Given the description of an element on the screen output the (x, y) to click on. 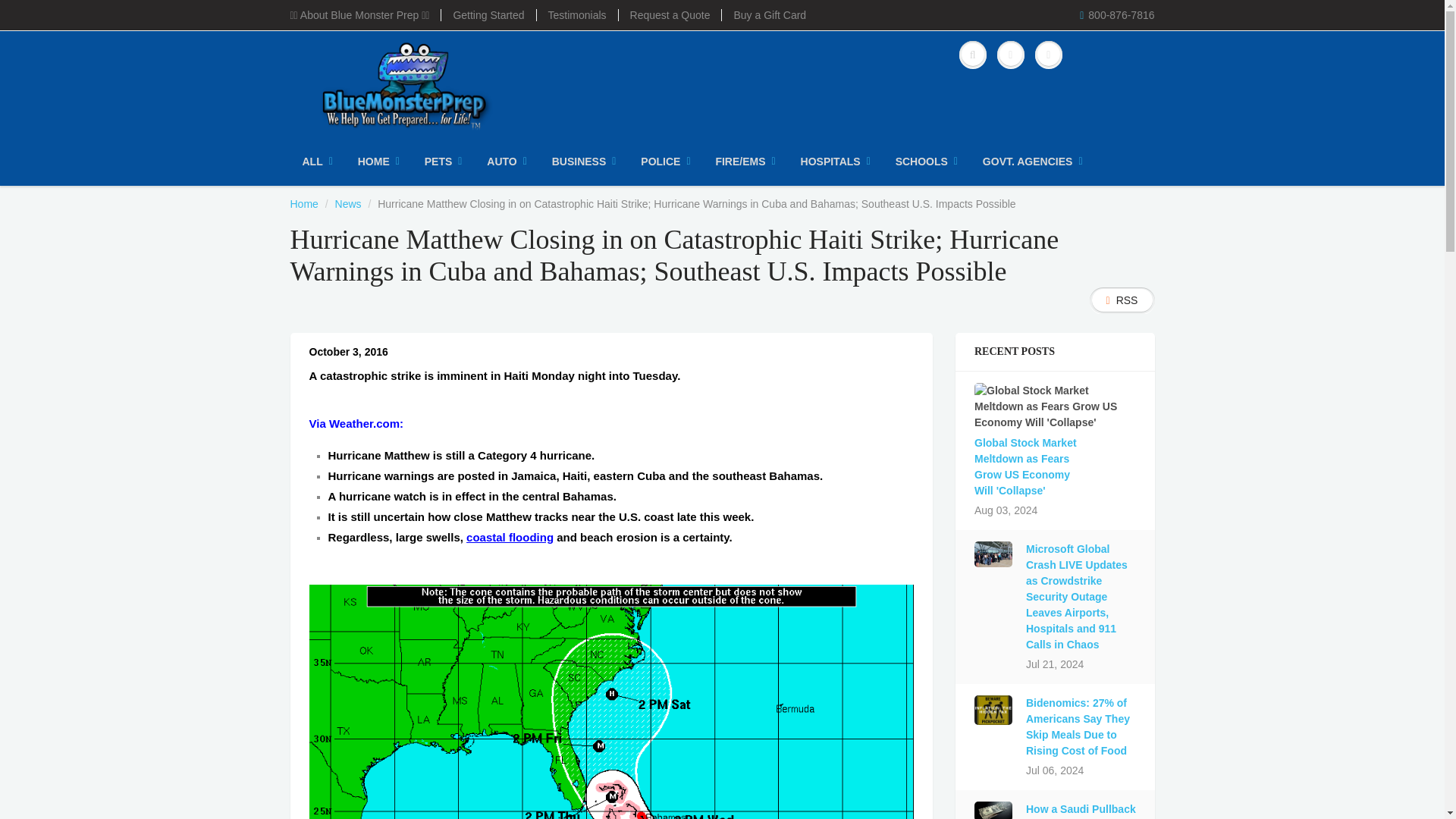
Home (303, 203)
coastal flooding (509, 536)
Weather.com: (366, 422)
